Given the description of an element on the screen output the (x, y) to click on. 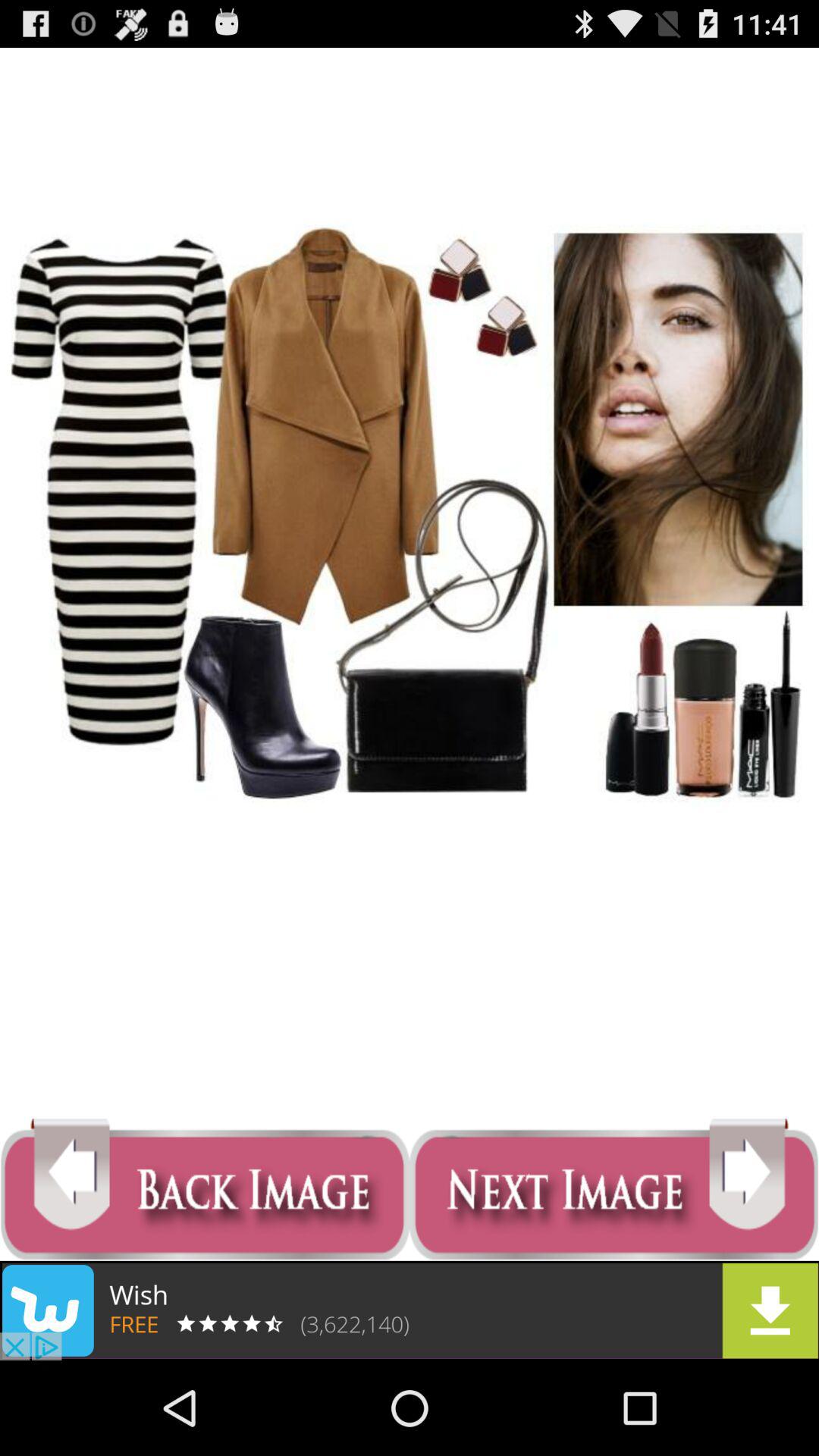
go to next page (614, 1189)
